Given the description of an element on the screen output the (x, y) to click on. 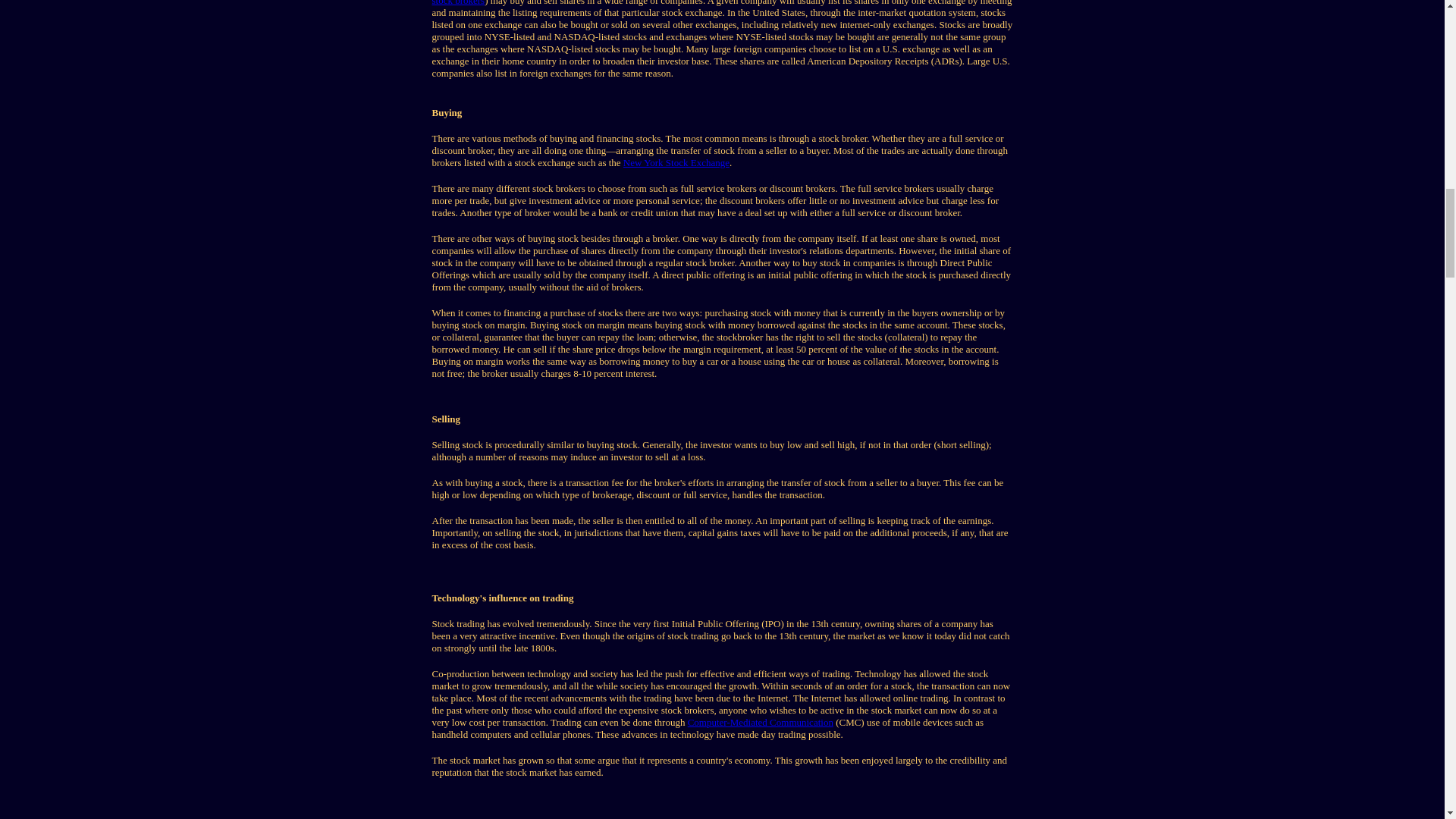
Computer-Mediated Communication (759, 722)
Computer-Mediated Communication (759, 722)
Stock broker (458, 2)
stock brokers (458, 2)
New York Stock Exchange (676, 162)
New York Stock Exchange (676, 162)
